Given the description of an element on the screen output the (x, y) to click on. 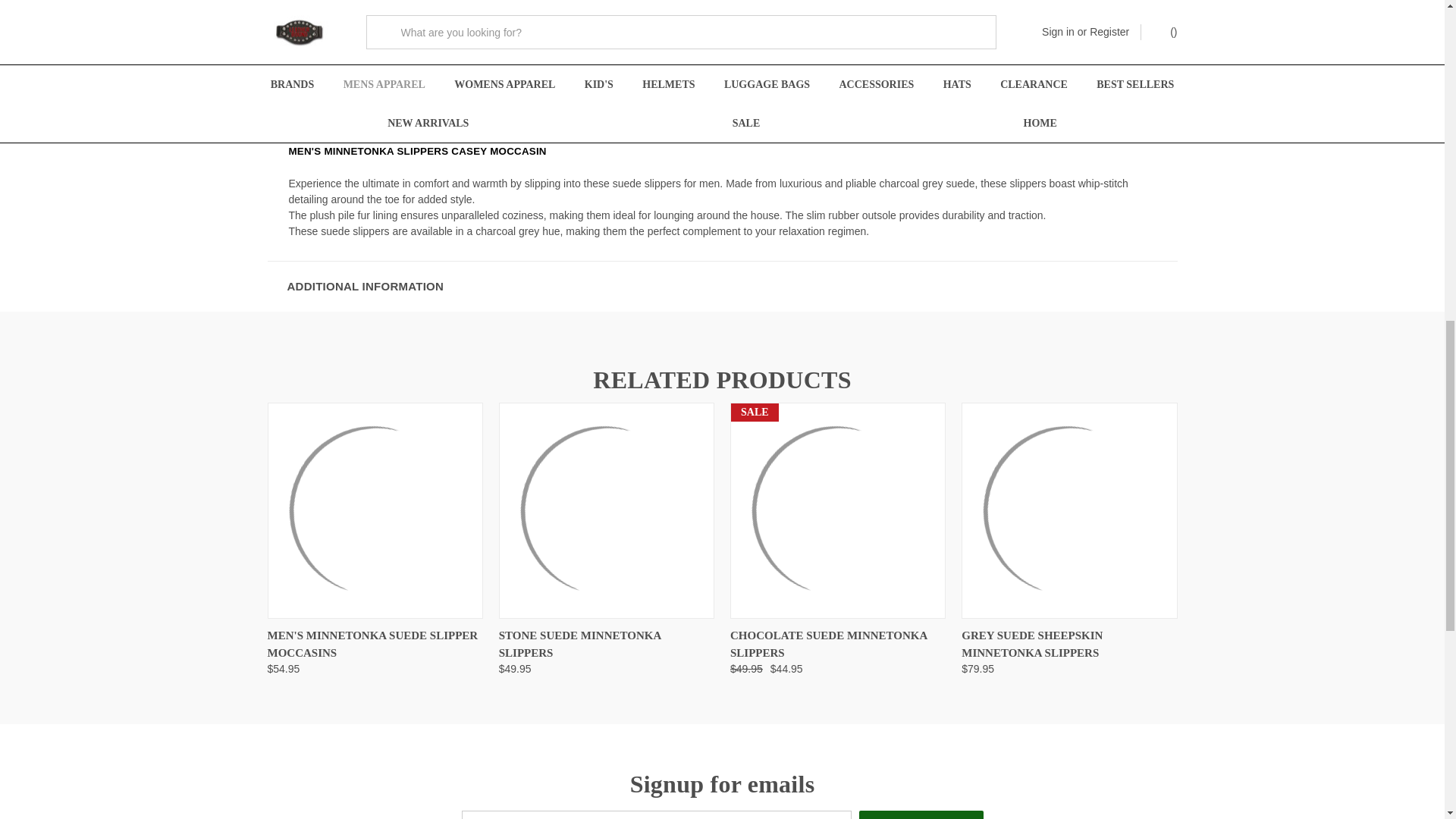
Women's Minnetonka Moccasin Cally Slipper Brown (837, 510)
Subscribe (920, 814)
Womens Grey Suede Sheepskin Minnetonka Moccasins (1068, 510)
Minnetonka Moccasin Cally Slippers 4018 Stone Suede (606, 510)
